Given the description of an element on the screen output the (x, y) to click on. 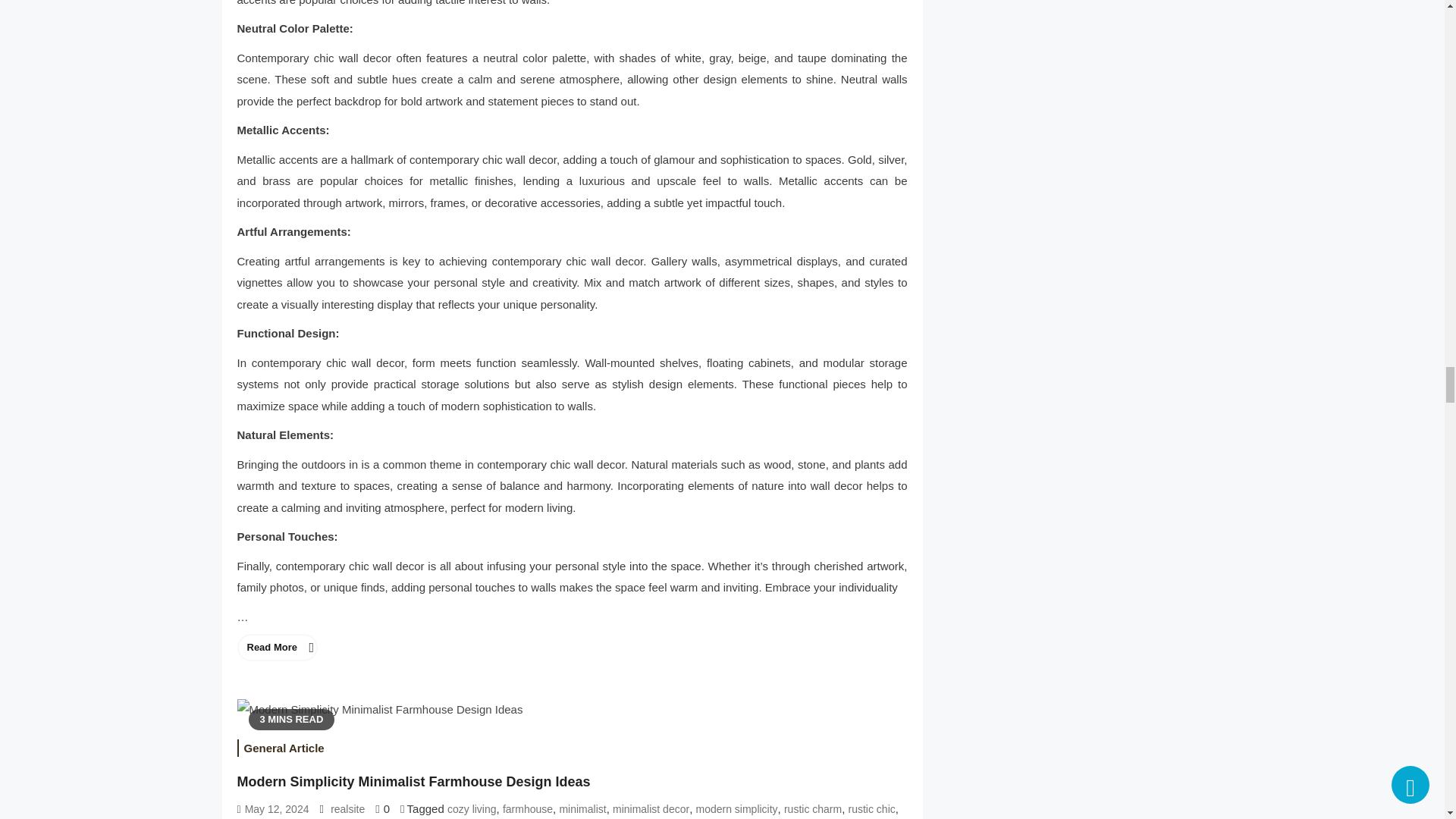
Modern Simplicity Minimalist Farmhouse Design Ideas (378, 709)
